Given the description of an element on the screen output the (x, y) to click on. 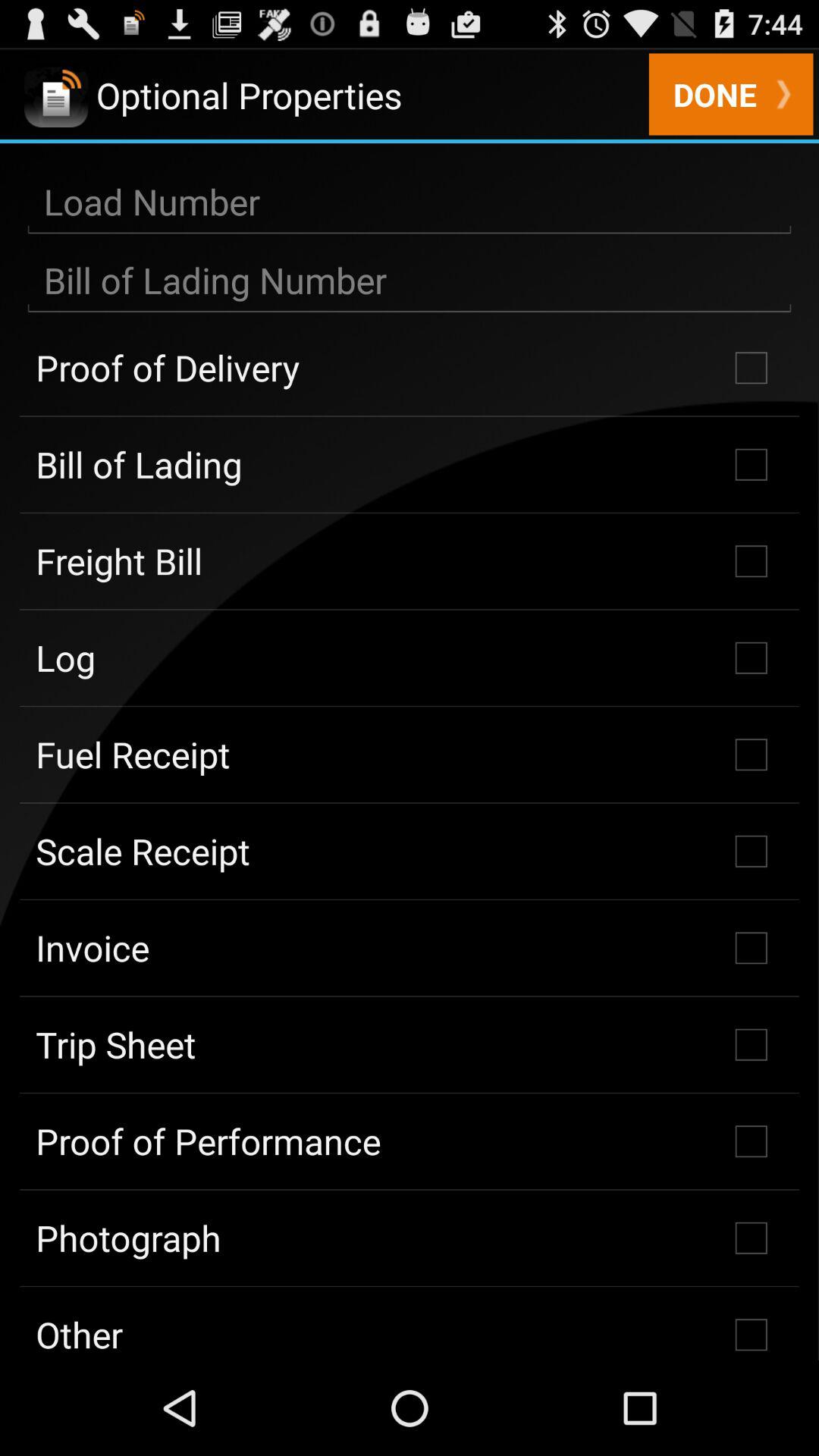
press checkbox above the other (409, 1237)
